Given the description of an element on the screen output the (x, y) to click on. 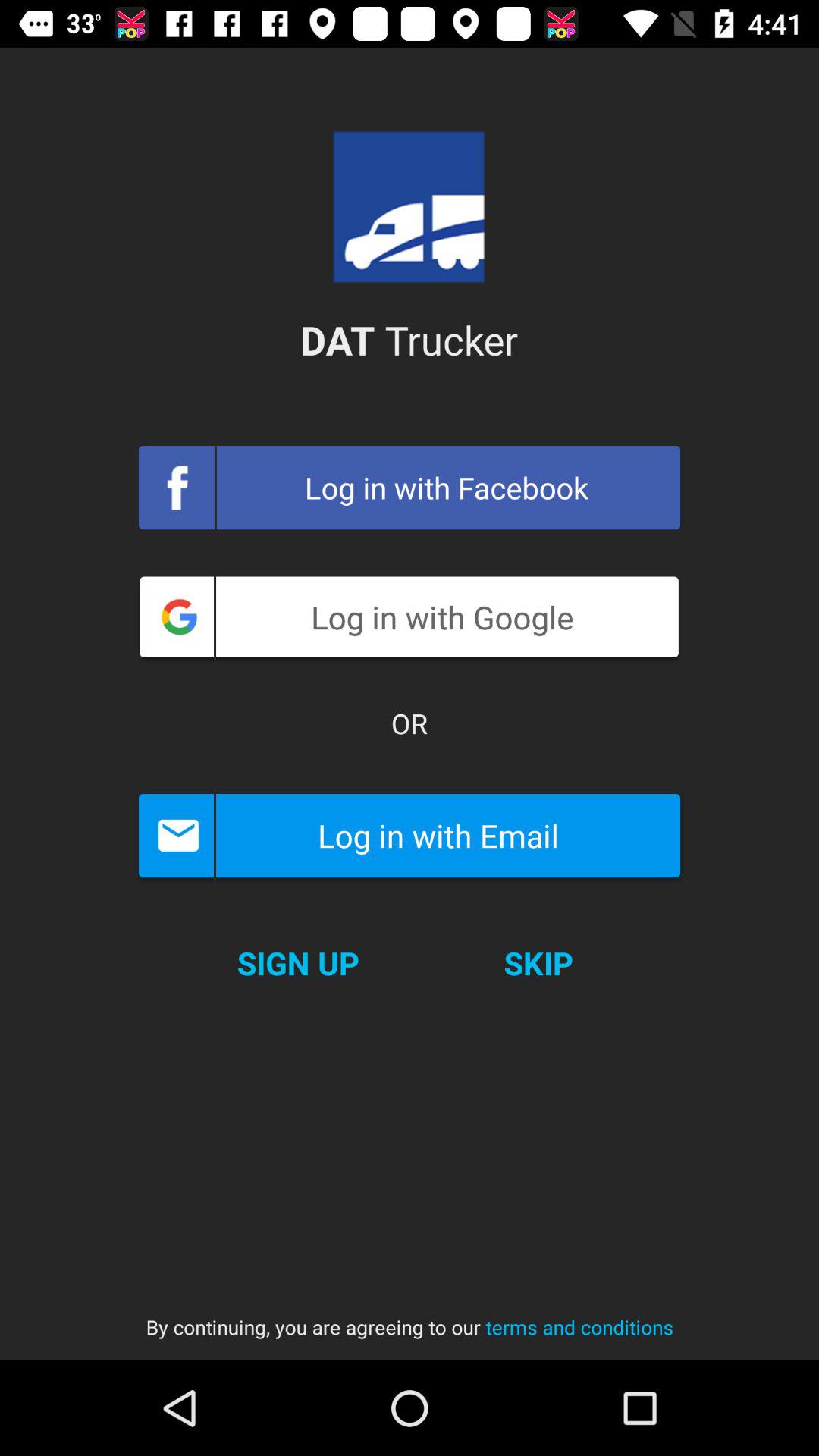
launch the item to the left of the skip icon (297, 962)
